Given the description of an element on the screen output the (x, y) to click on. 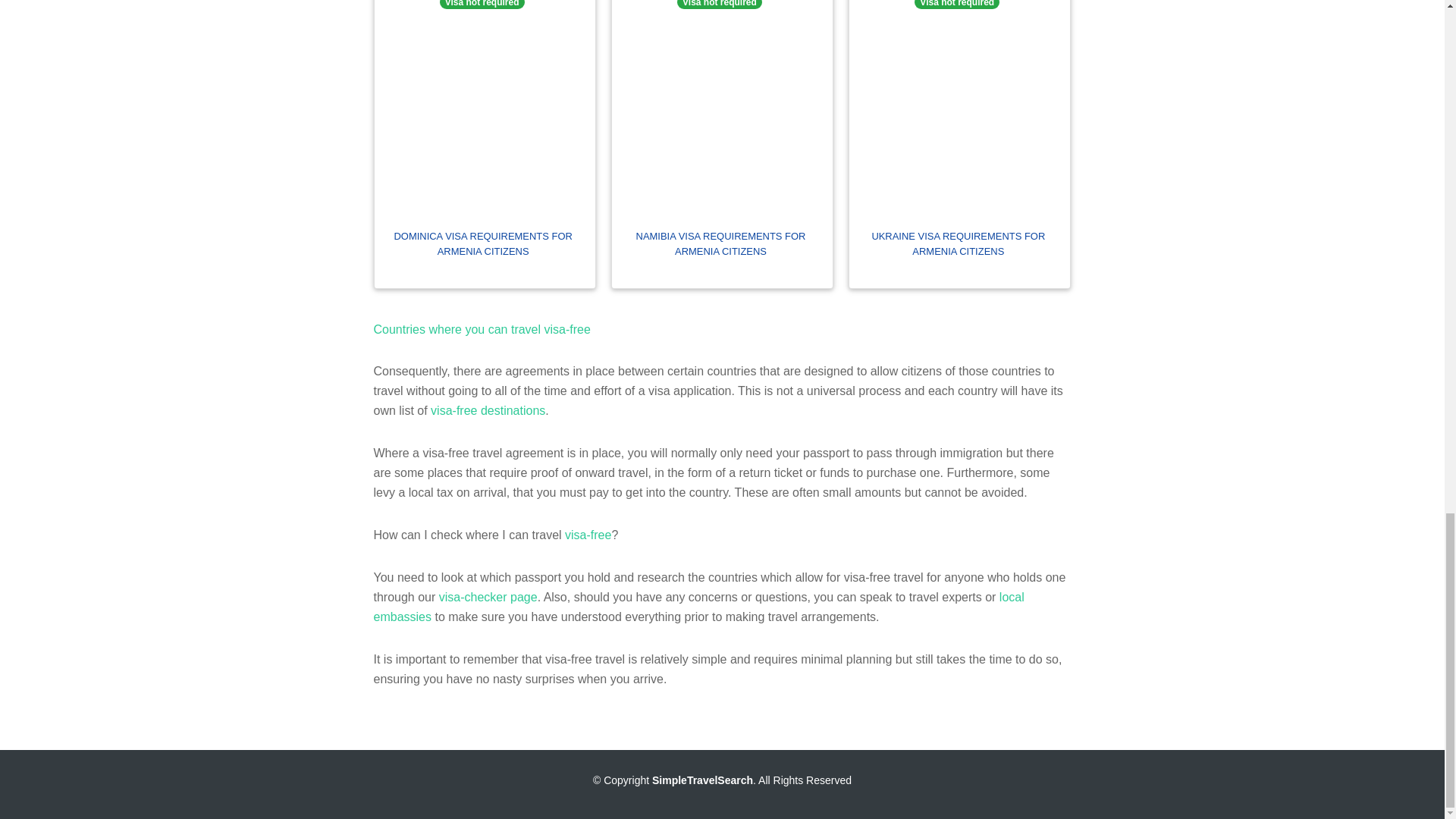
Countries where you can travel visa-free (480, 328)
UKRAINE VISA REQUIREMENTS FOR ARMENIA CITIZENS (957, 243)
DOMINICA VISA REQUIREMENTS FOR ARMENIA CITIZENS (483, 243)
visa-free (587, 534)
visa-checker page (488, 596)
local embassies (697, 606)
NAMIBIA VISA REQUIREMENTS FOR ARMENIA CITIZENS (720, 243)
visa-free destinations (487, 410)
